Given the description of an element on the screen output the (x, y) to click on. 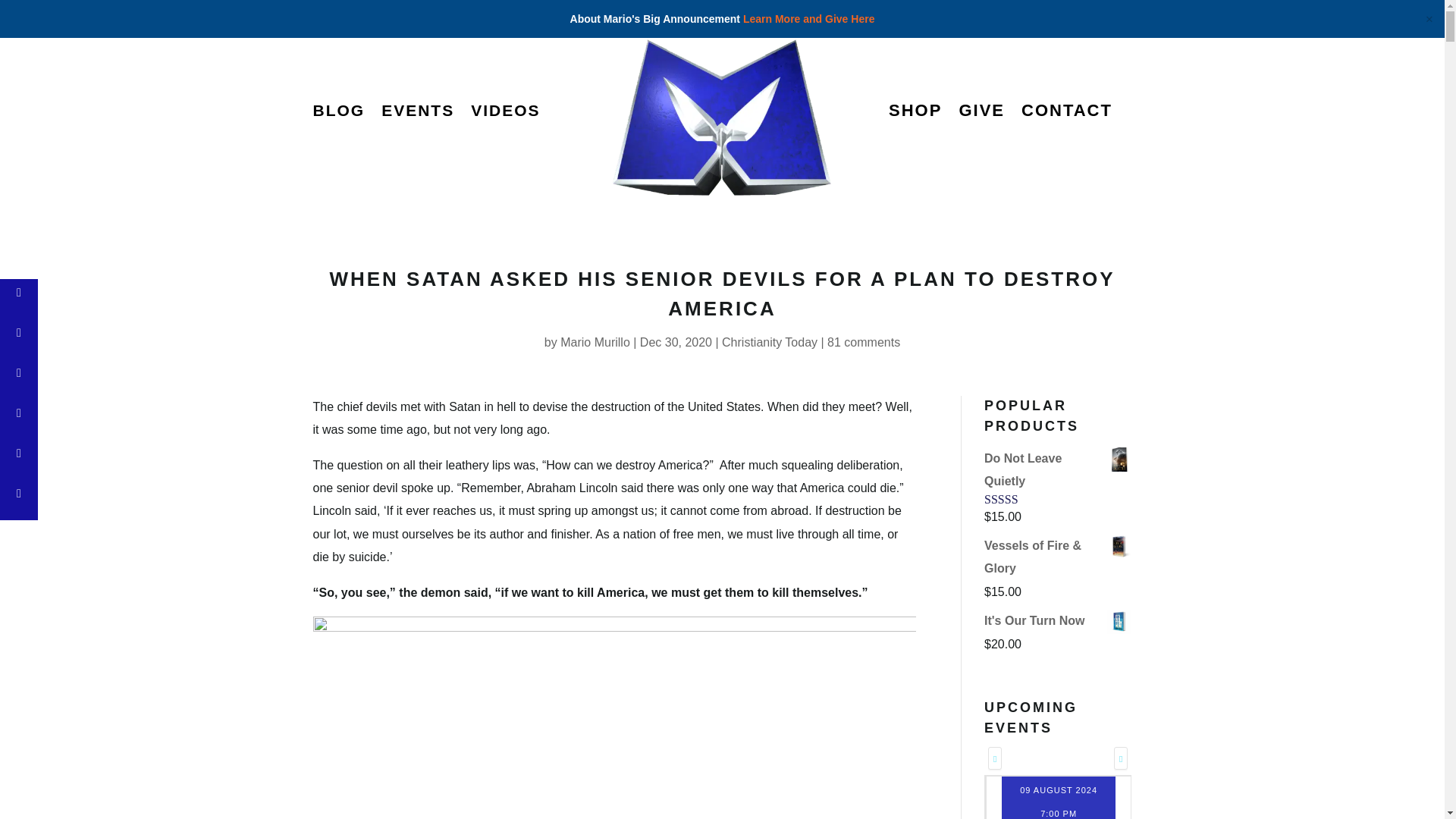
Christianity Today (769, 341)
Posts by Mario Murillo (595, 341)
MM-logo-web-480x341 (734, 126)
SHOP (915, 113)
Learn More and Give Here (808, 19)
VIDEOS (505, 113)
81 comments (863, 341)
GIVE (981, 113)
CONTACT (1067, 113)
Mario Murillo (595, 341)
EVENTS (417, 113)
BLOG (339, 113)
